Given the description of an element on the screen output the (x, y) to click on. 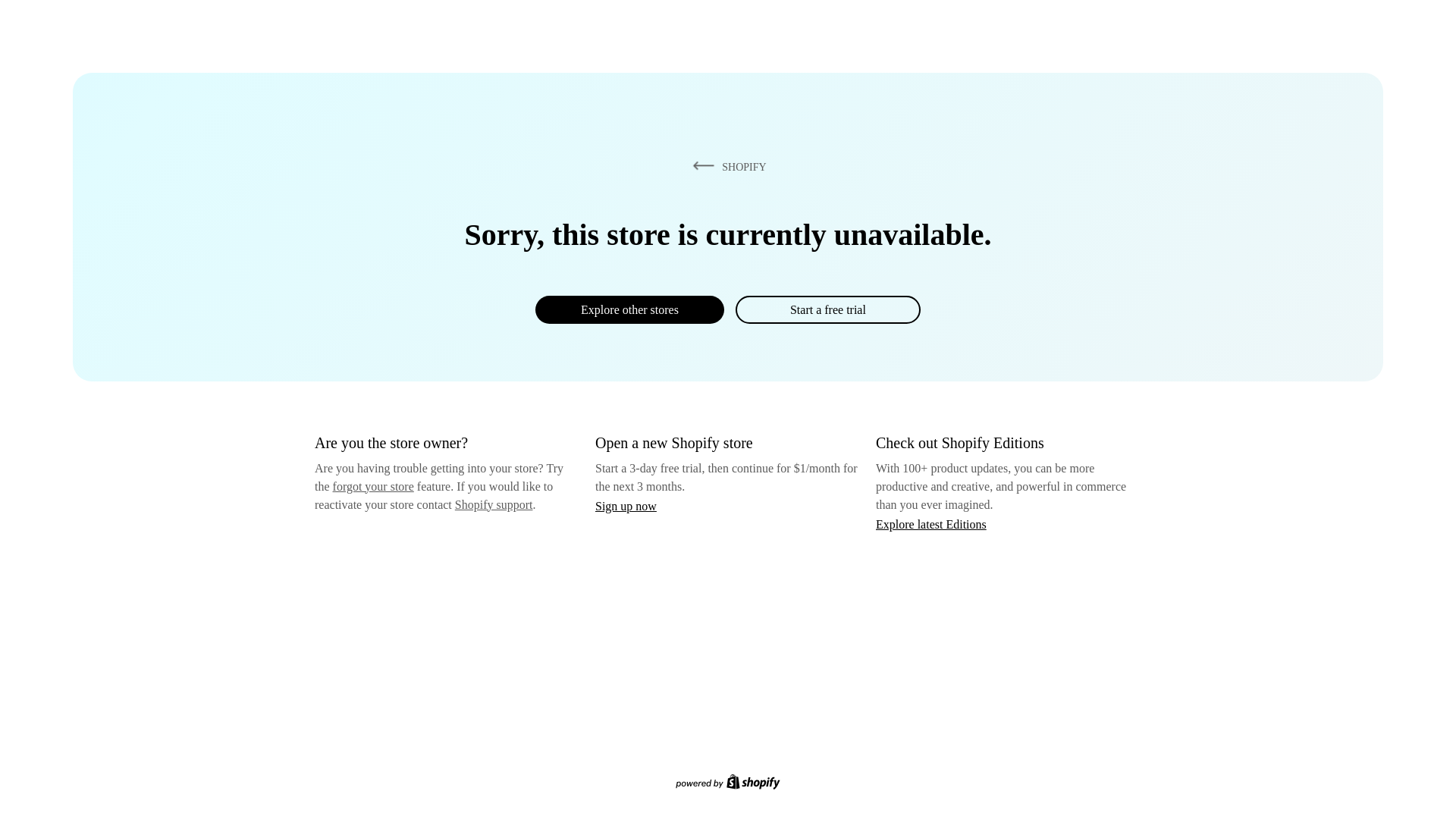
Shopify support (493, 504)
Sign up now (625, 505)
SHOPIFY (726, 166)
forgot your store (373, 486)
Start a free trial (827, 309)
Explore other stores (629, 309)
Explore latest Editions (931, 523)
